Given the description of an element on the screen output the (x, y) to click on. 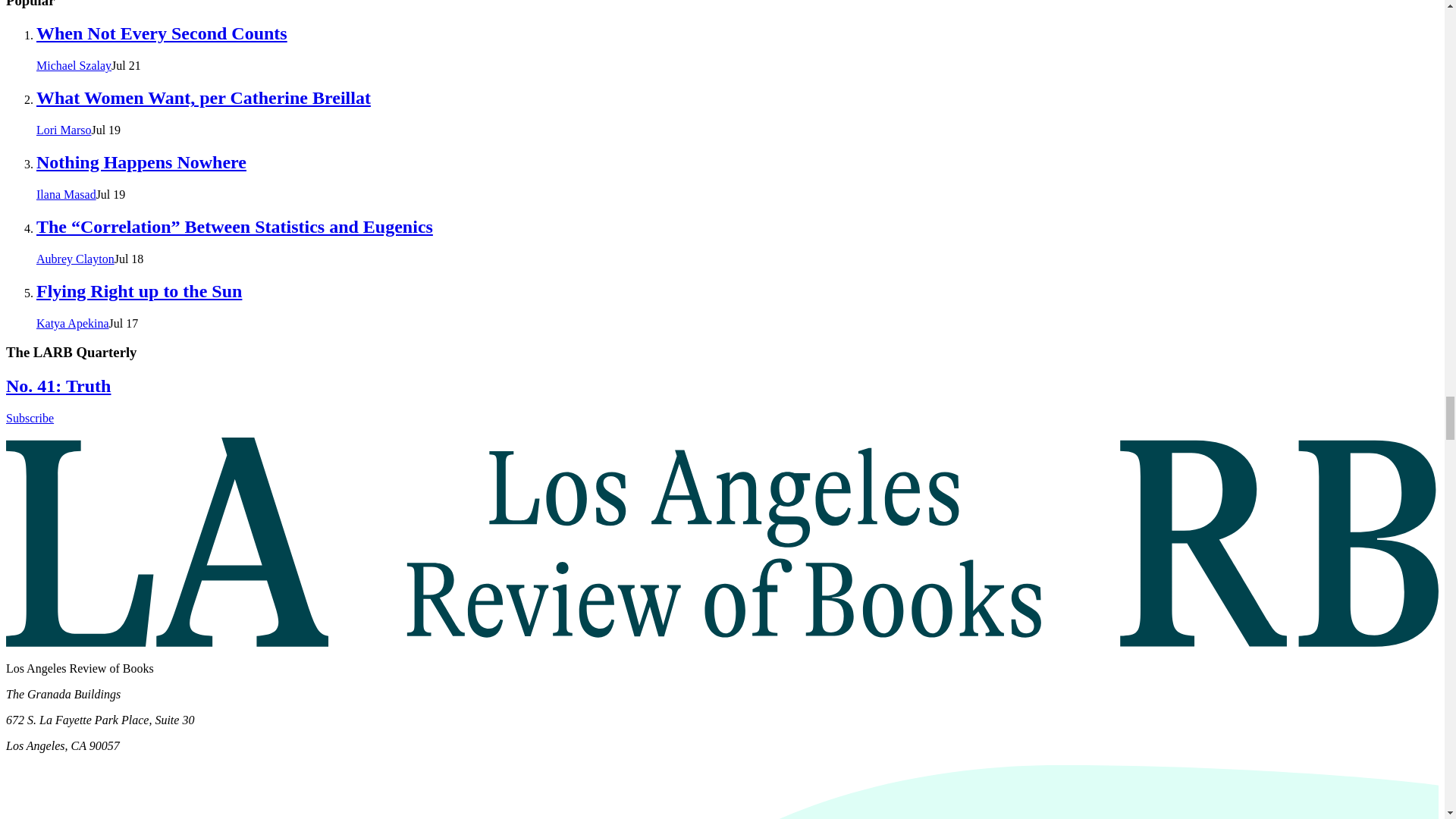
When Not Every Second Counts (161, 33)
